Given the description of an element on the screen output the (x, y) to click on. 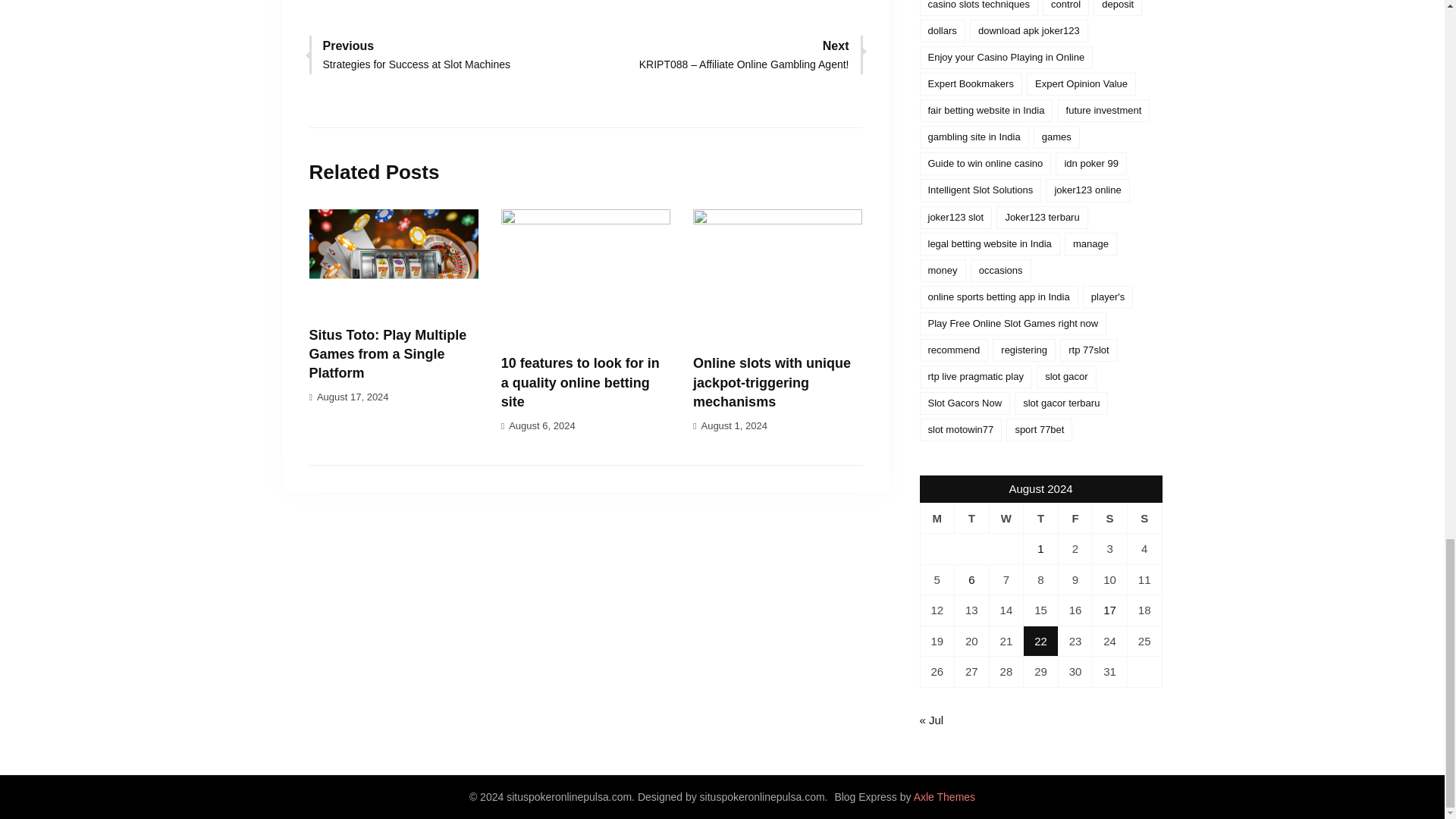
Friday (1075, 517)
Thursday (1040, 517)
Wednesday (1005, 517)
Tuesday (972, 517)
Online slots with unique jackpot-triggering mechanisms (771, 381)
Monday (937, 517)
Sunday (1143, 517)
10 features to look for in a quality online betting site (579, 381)
